Given the description of an element on the screen output the (x, y) to click on. 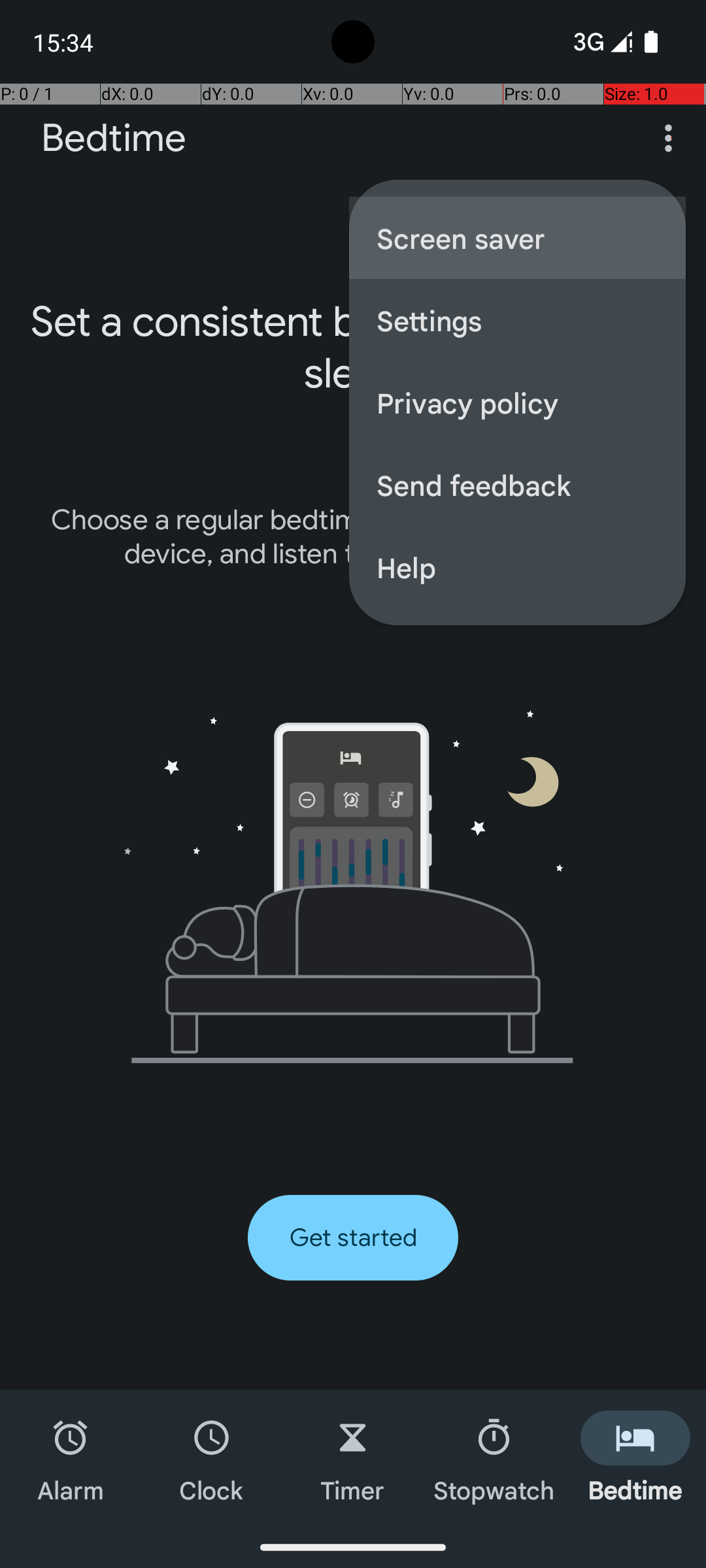
Screen saver Element type: android.widget.TextView (517, 237)
